Given the description of an element on the screen output the (x, y) to click on. 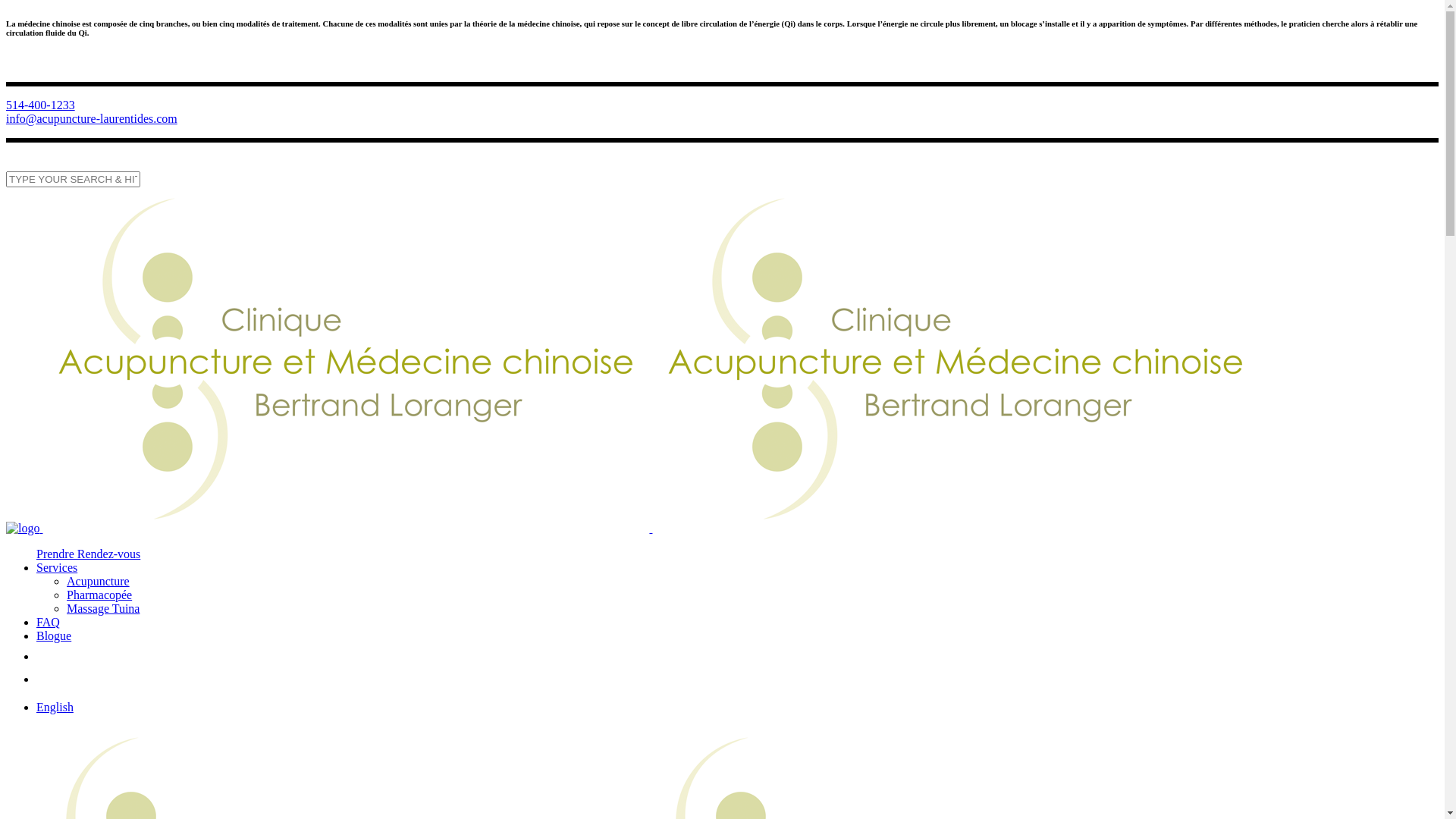
info@acupuncture-laurentides.com Element type: text (91, 118)
FAQ Element type: text (47, 621)
Acupuncture Element type: text (97, 580)
English Element type: text (54, 706)
Services Element type: text (56, 567)
Massage Tuina Element type: text (102, 608)
Blogue Element type: text (53, 635)
514-400-1233 Element type: text (40, 104)
Prendre Rendez-vous Element type: text (88, 553)
